Given the description of an element on the screen output the (x, y) to click on. 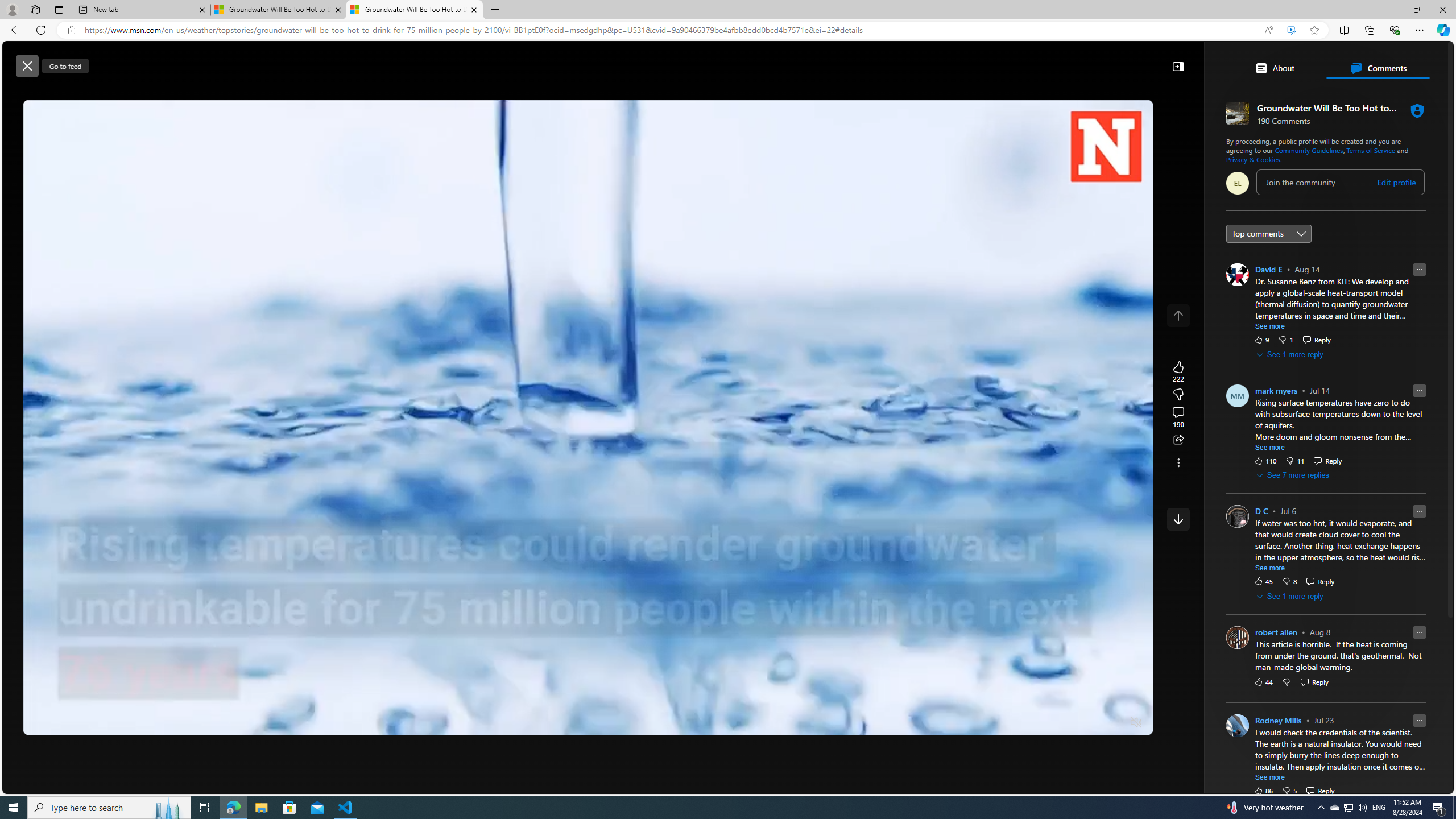
Open Copilot (930, 59)
Watch (416, 92)
Personalize (1132, 92)
110 Like (1265, 459)
Captions (1091, 723)
Profile Picture (1237, 725)
comment-box (1340, 181)
Community Guidelines (1308, 149)
Following (373, 92)
